Given the description of an element on the screen output the (x, y) to click on. 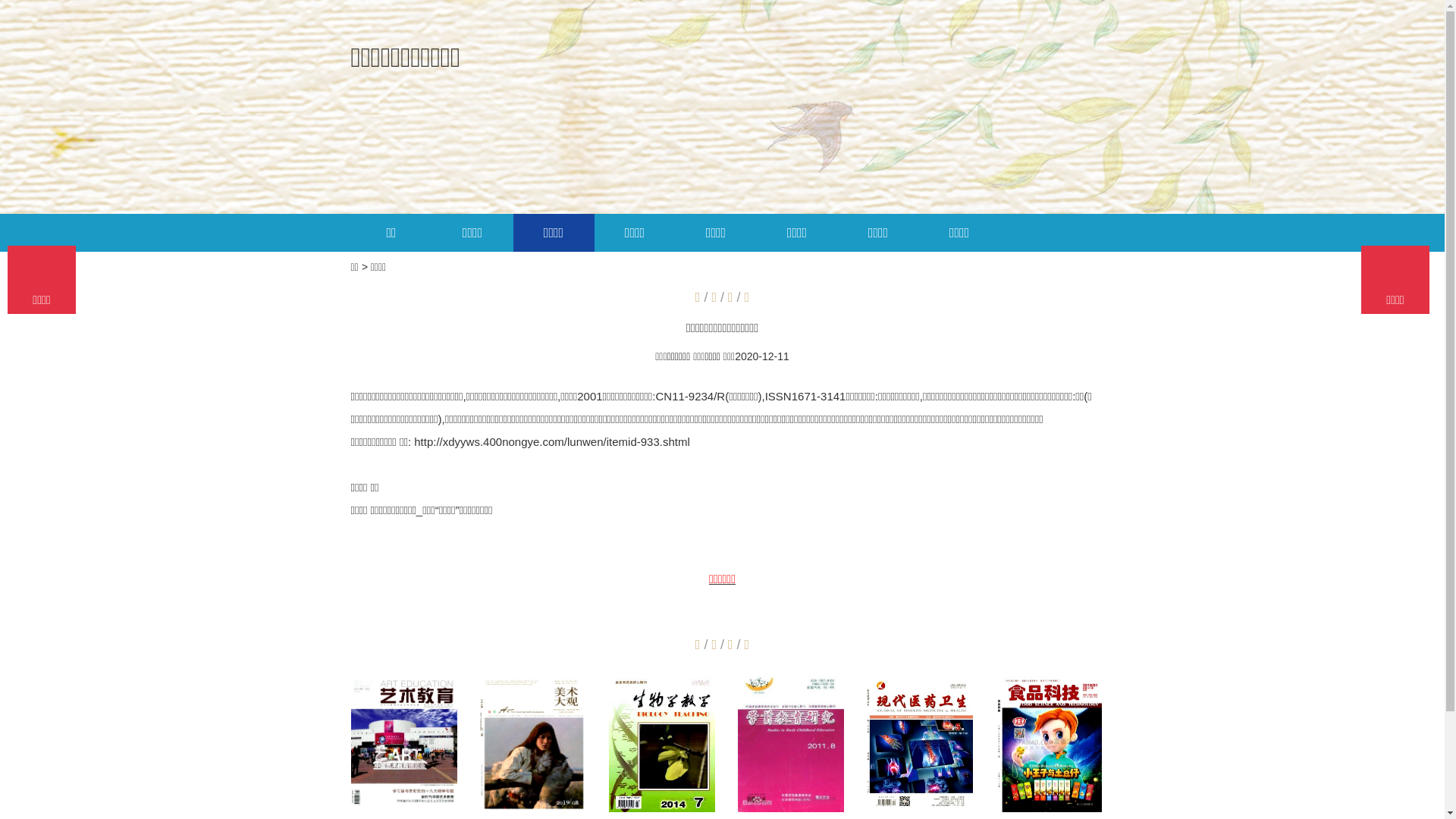
http://xdyyws.400nongye.com/lunwen/itemid-933.shtml Element type: text (552, 441)
